Given the description of an element on the screen output the (x, y) to click on. 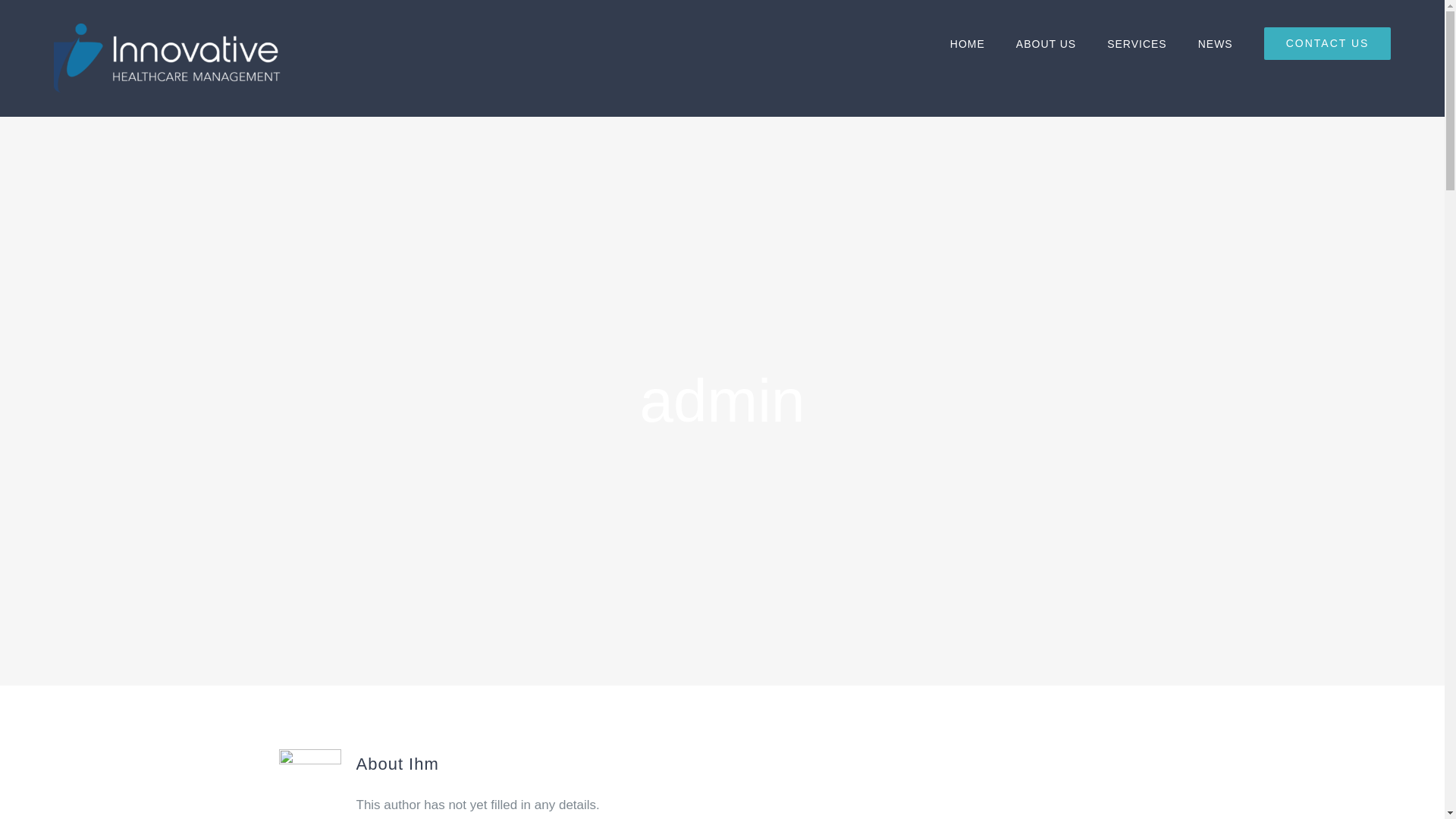
CONTACT US (1327, 43)
